Given the description of an element on the screen output the (x, y) to click on. 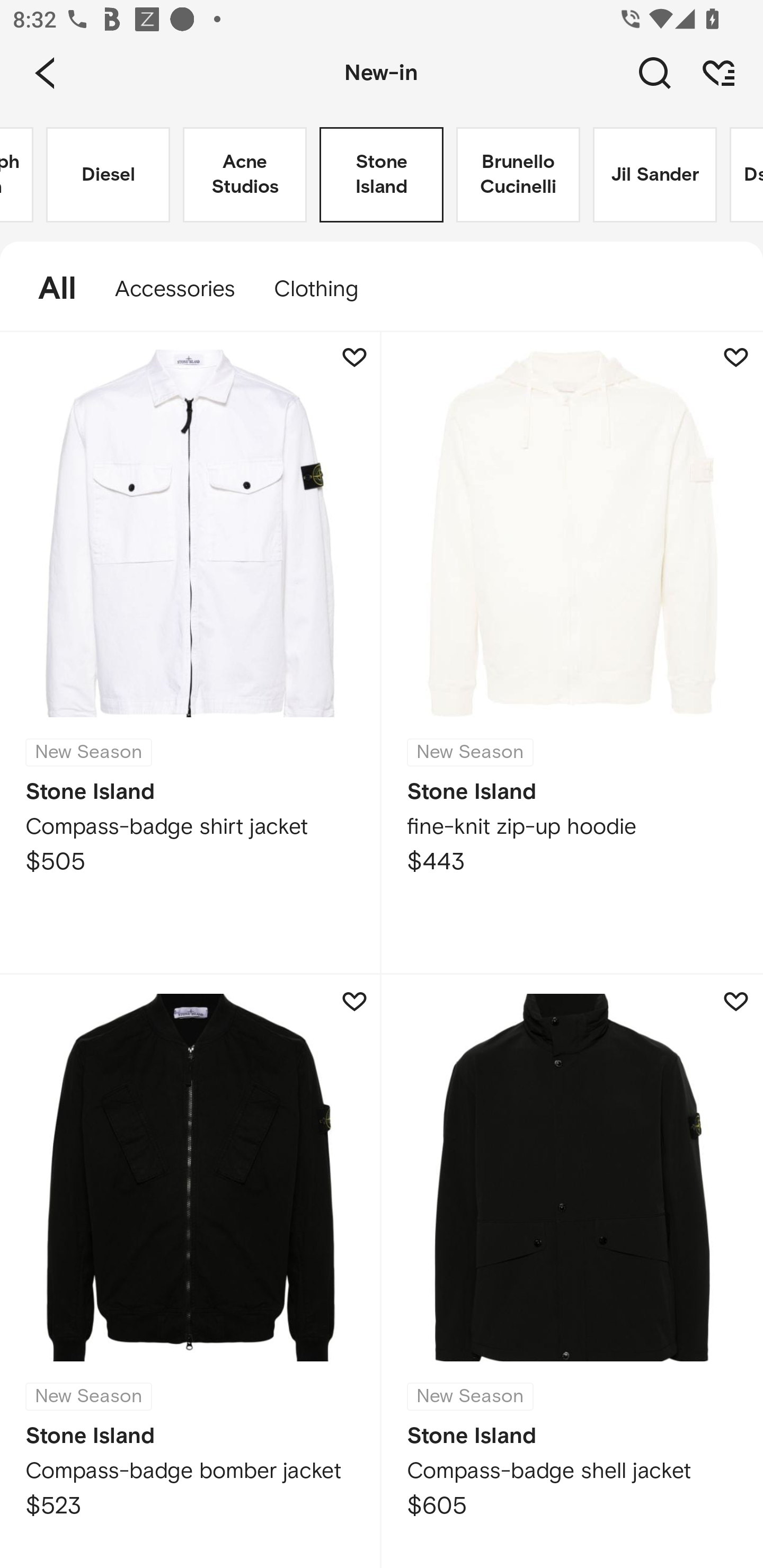
Diesel (107, 174)
Acne Studios (244, 174)
Stone Island (381, 174)
Brunello Cucinelli (517, 174)
Jil Sander (654, 174)
All (47, 288)
Accessories (174, 288)
Clothing (324, 288)
